Given the description of an element on the screen output the (x, y) to click on. 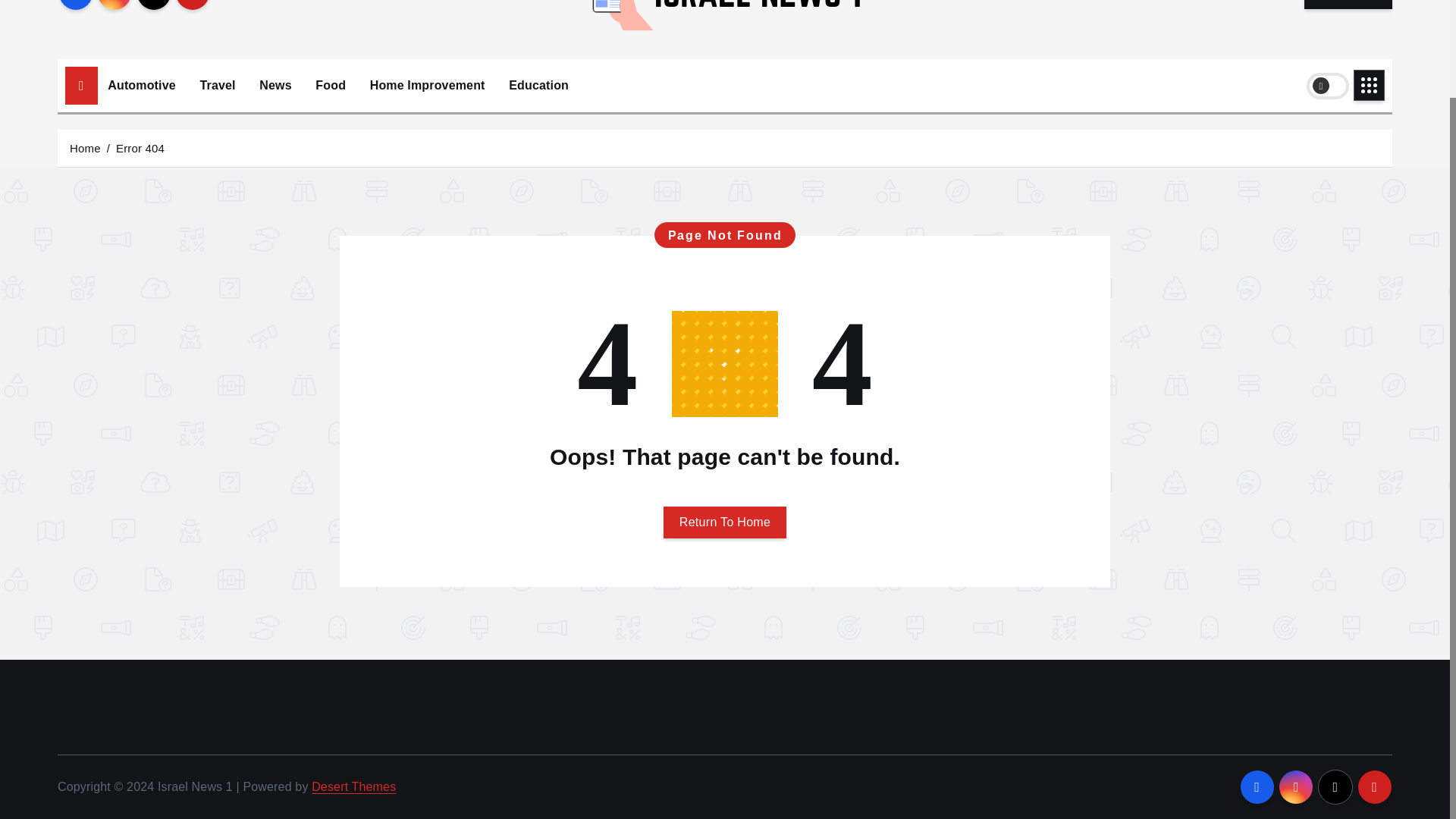
Automotive (141, 85)
Home Improvement (427, 85)
News (274, 85)
Subscribe (1347, 4)
Food (330, 85)
Education (538, 85)
Food (330, 85)
Automotive (141, 85)
Education (538, 85)
Travel (216, 85)
